Given the description of an element on the screen output the (x, y) to click on. 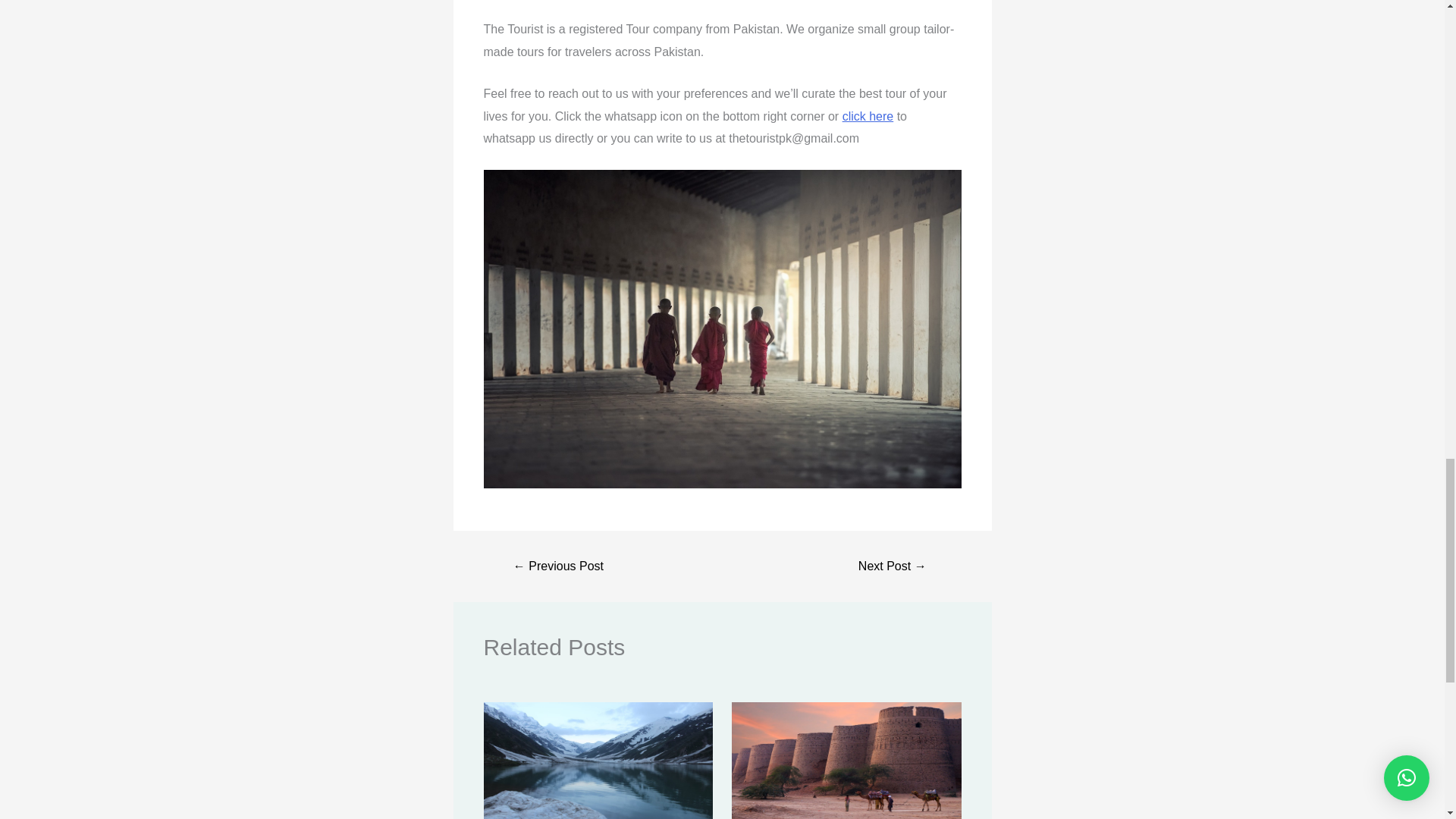
click here (868, 115)
Lahore: A guide for travelers (558, 566)
